Given the description of an element on the screen output the (x, y) to click on. 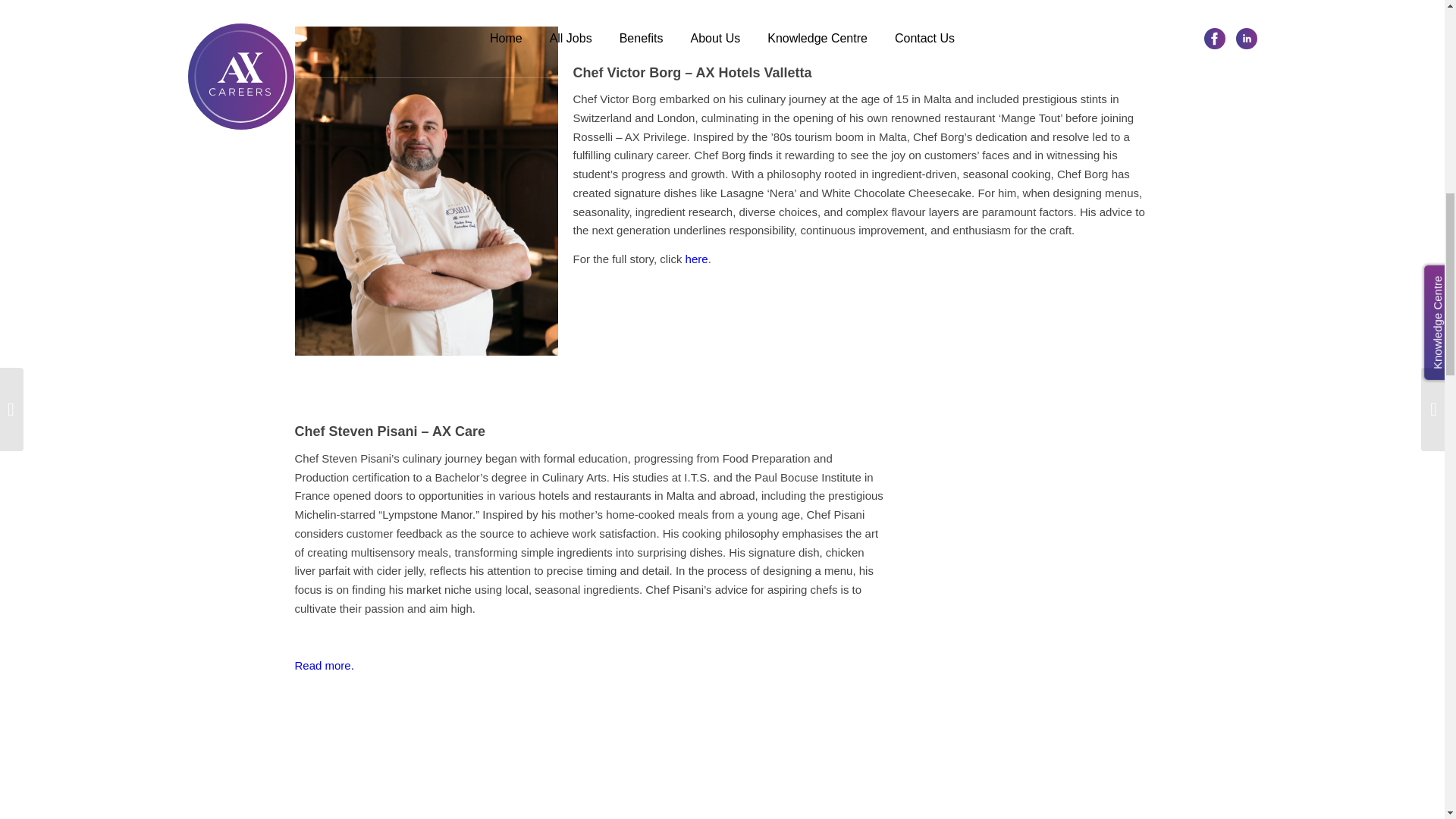
here (696, 258)
Read more. (323, 665)
